Given the description of an element on the screen output the (x, y) to click on. 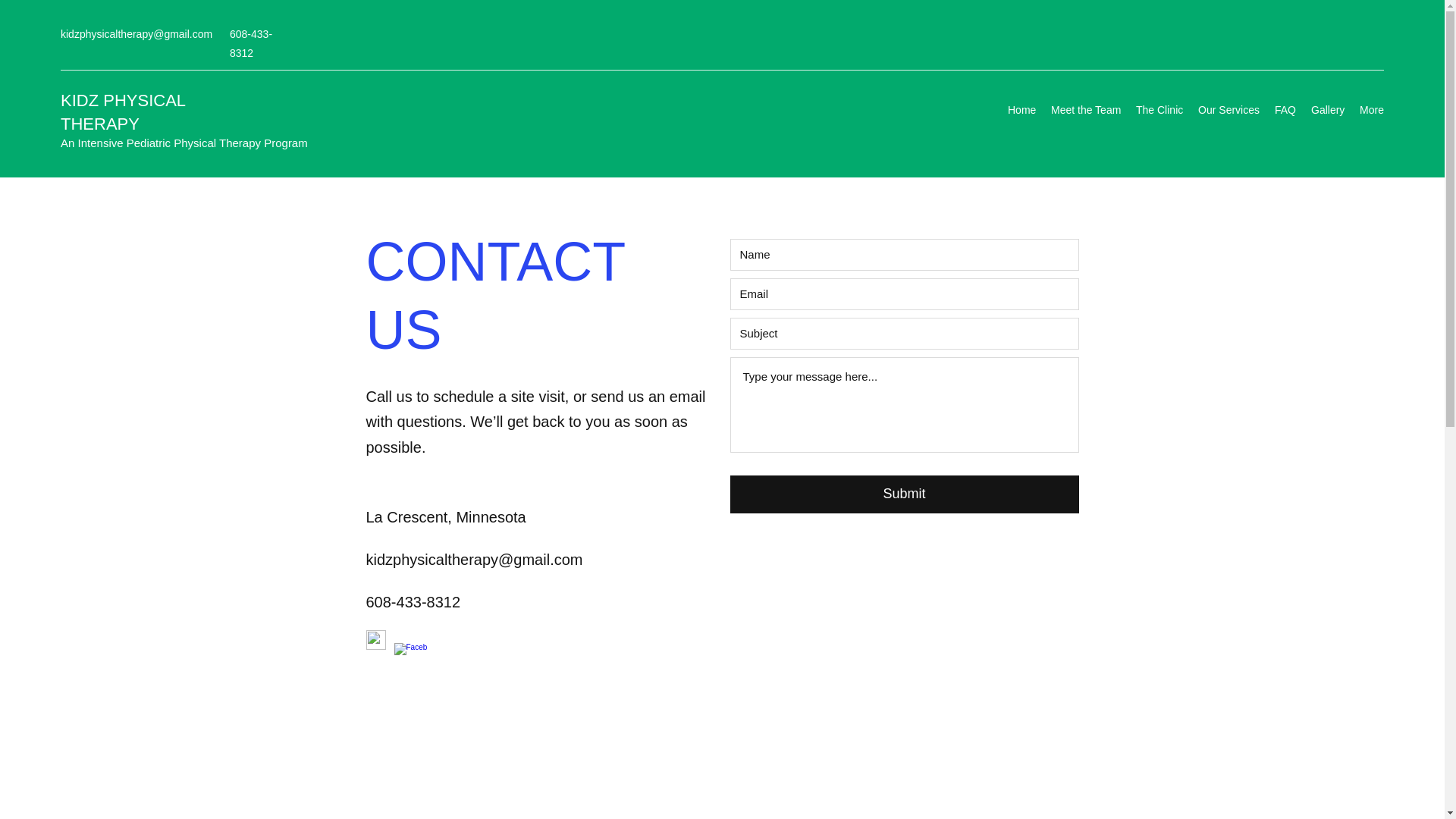
Gallery (1327, 109)
Our Services (1228, 109)
Meet the Team (1085, 109)
The Clinic (1159, 109)
Home (1021, 109)
FAQ (1284, 109)
Submit (903, 494)
